Given the description of an element on the screen output the (x, y) to click on. 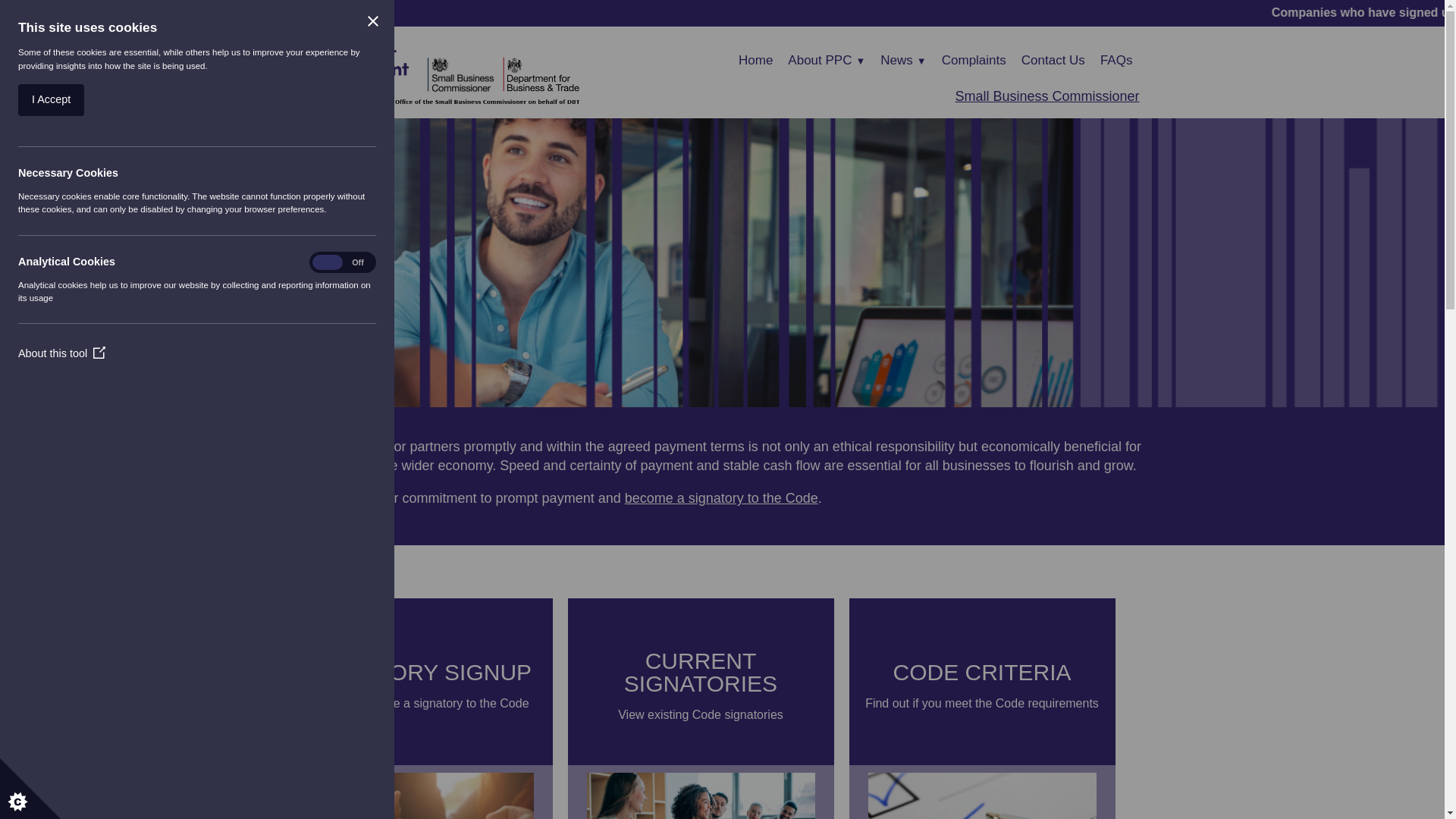
Small Business Commissioner (1046, 96)
Contact Us (1053, 60)
Home (981, 681)
FAQs (755, 60)
